Given the description of an element on the screen output the (x, y) to click on. 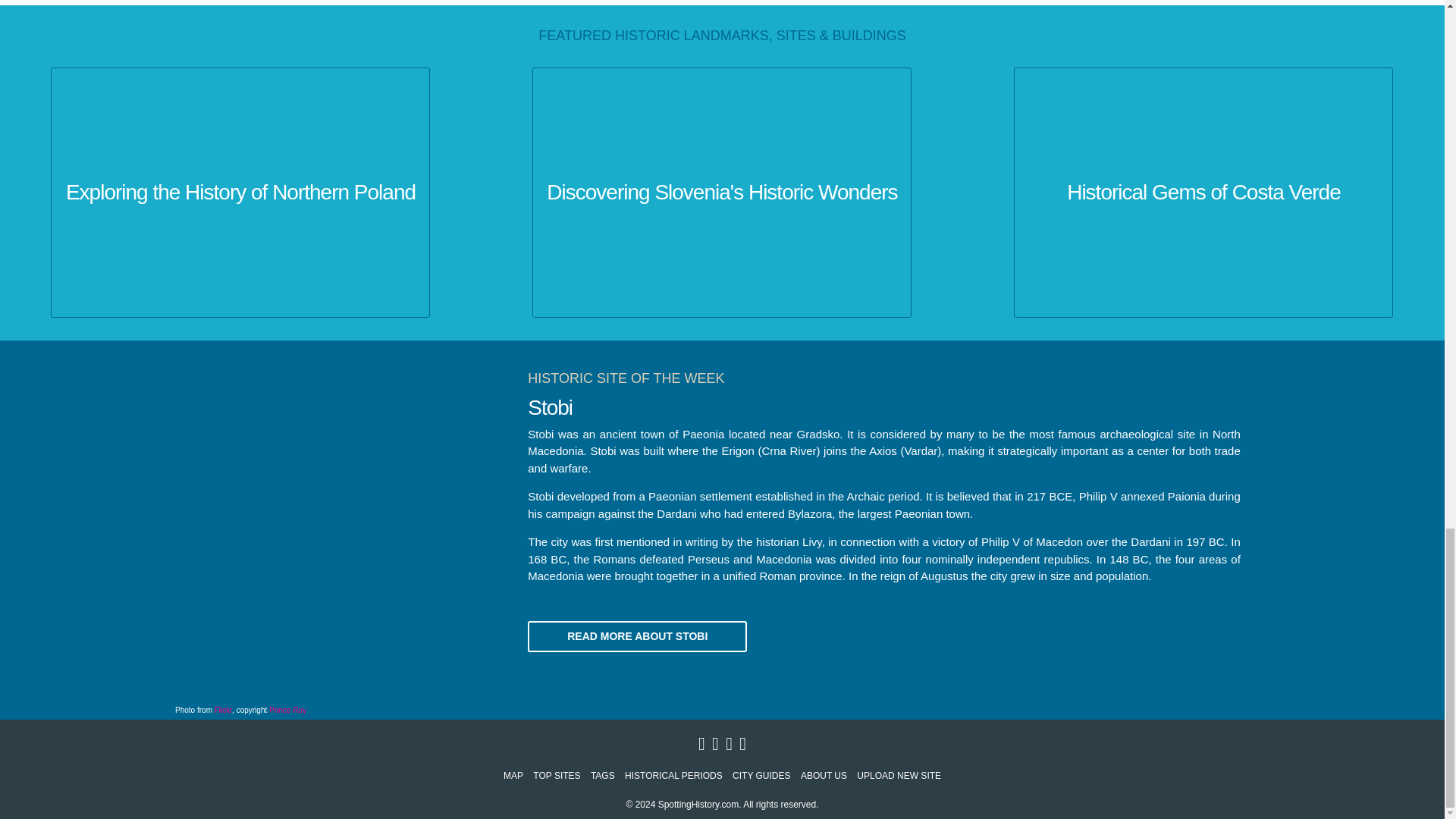
Flickr (222, 709)
READ MORE ABOUT STOBI (636, 635)
READ MORE ABOUT STOBI (636, 635)
Historical Gems of Costa Verde (1203, 192)
Exploring the History of Northern Poland (239, 192)
Discovering Slovenia's Historic Wonders (721, 192)
Prince Roy (287, 709)
